Given the description of an element on the screen output the (x, y) to click on. 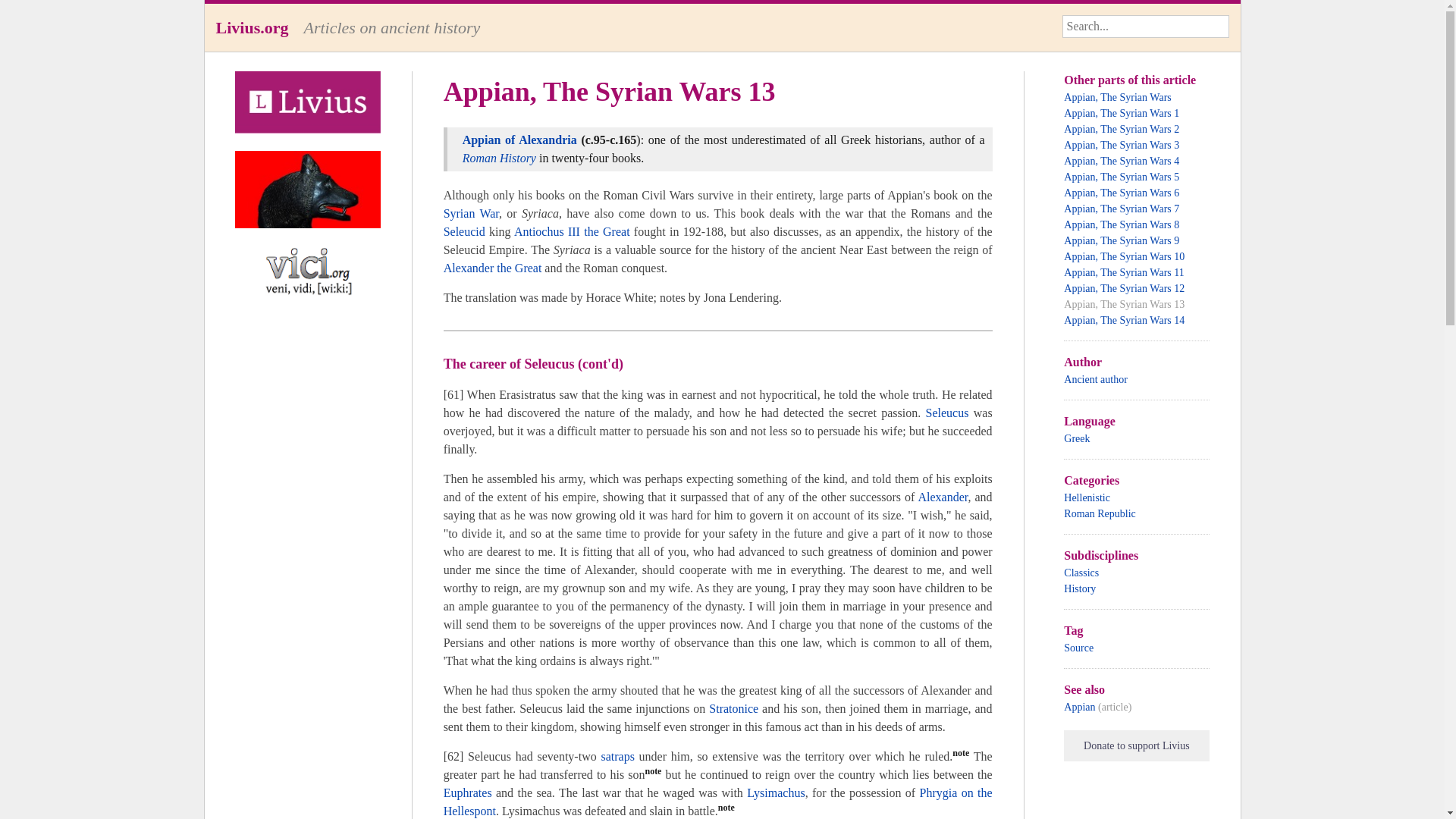
satraps (616, 756)
Phrygia on the Hellespont (718, 801)
Roman History (499, 157)
Appian of Alexandria (519, 139)
Antiochus III the Great (571, 231)
Click to toggle note (653, 774)
Lysimachus (775, 792)
Stratonice (733, 707)
Click to toggle note (726, 810)
Seleucus (947, 412)
